Given the description of an element on the screen output the (x, y) to click on. 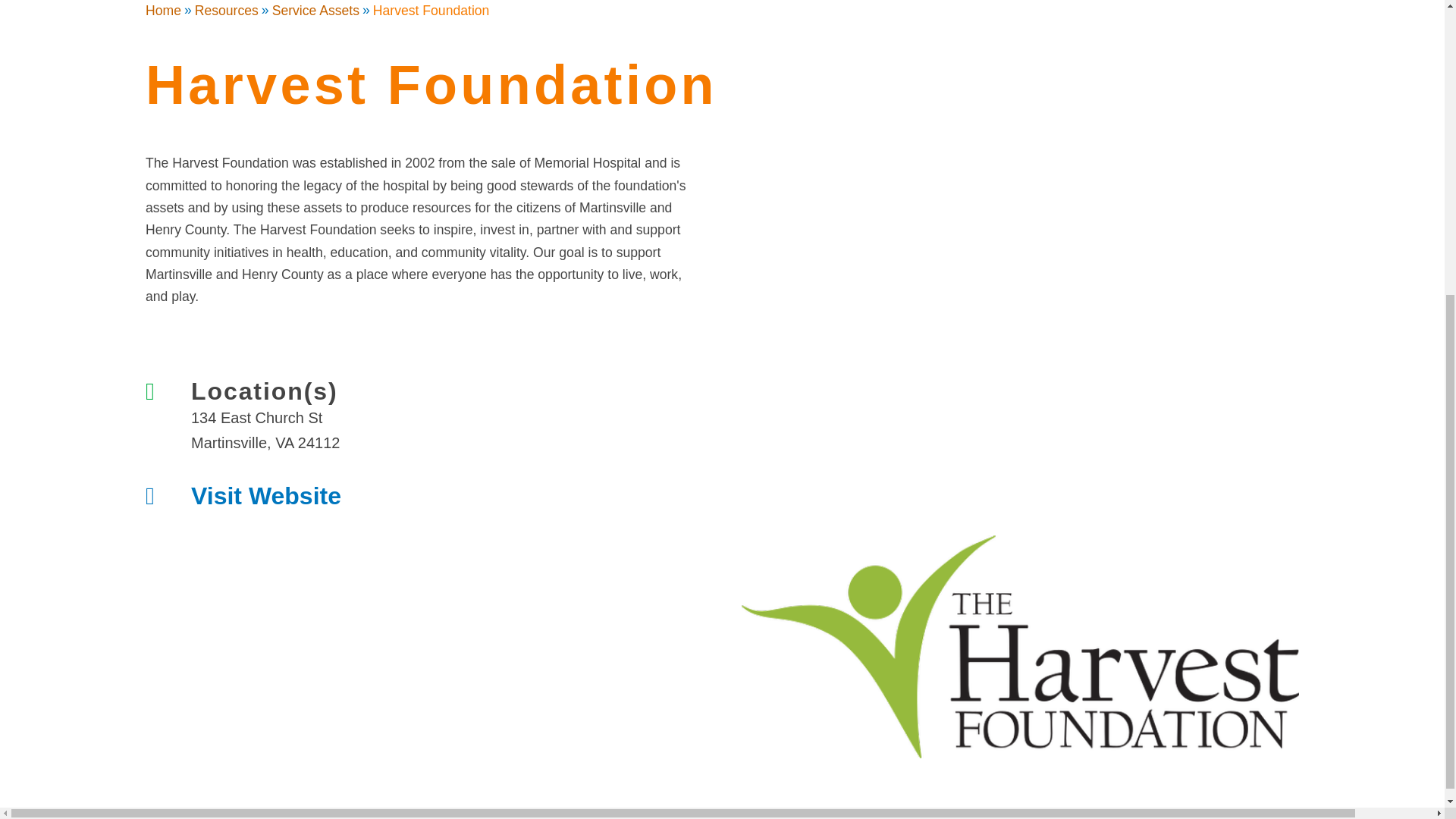
Resources (227, 11)
Service Assets (315, 11)
Visit Website (446, 496)
Home (162, 11)
